Given the description of an element on the screen output the (x, y) to click on. 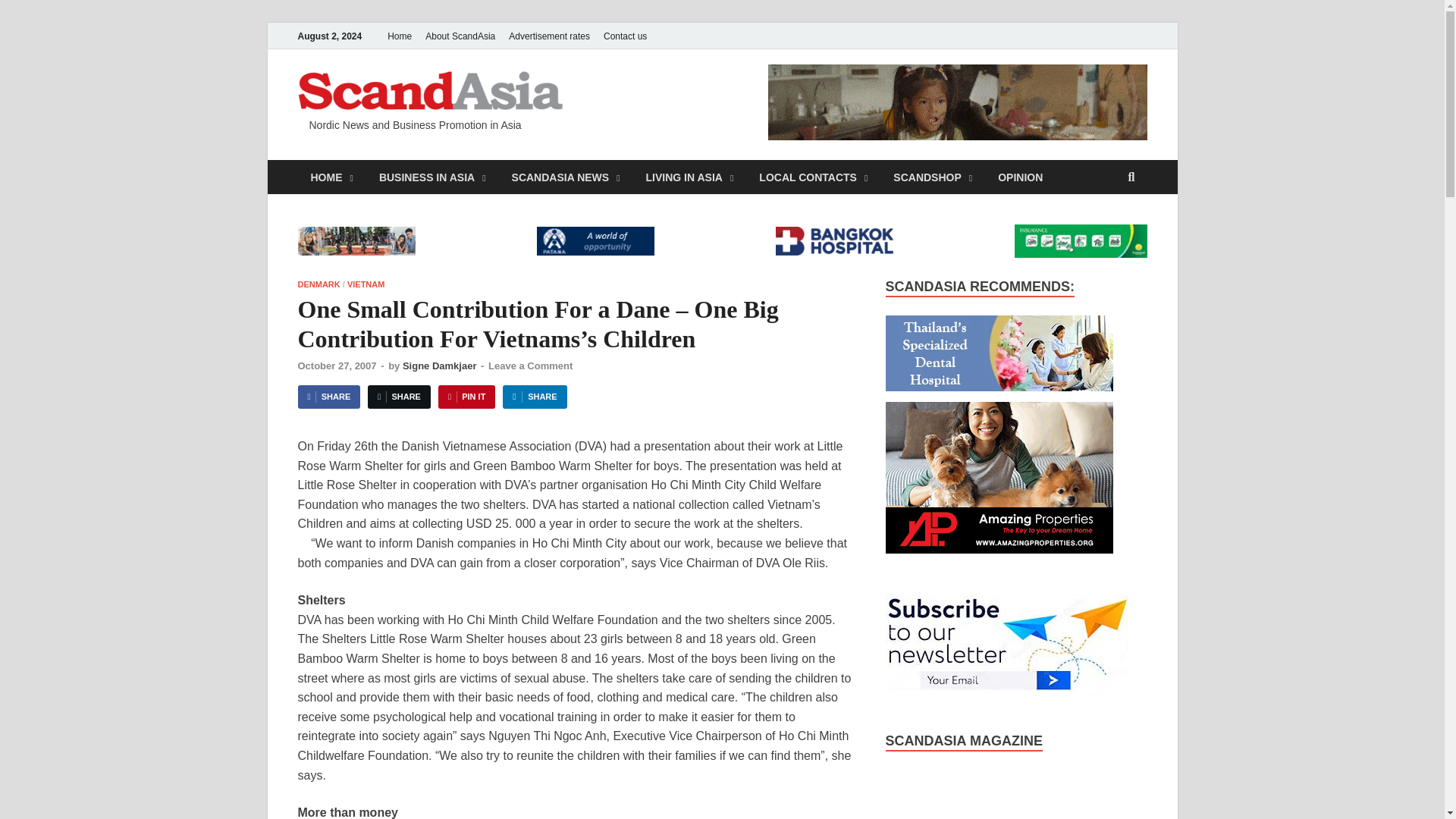
BUSINESS IN ASIA (432, 176)
Home (399, 35)
Contact us (624, 35)
About ScandAsia (460, 35)
HOME (331, 176)
Advertisement rates (549, 35)
